Given the description of an element on the screen output the (x, y) to click on. 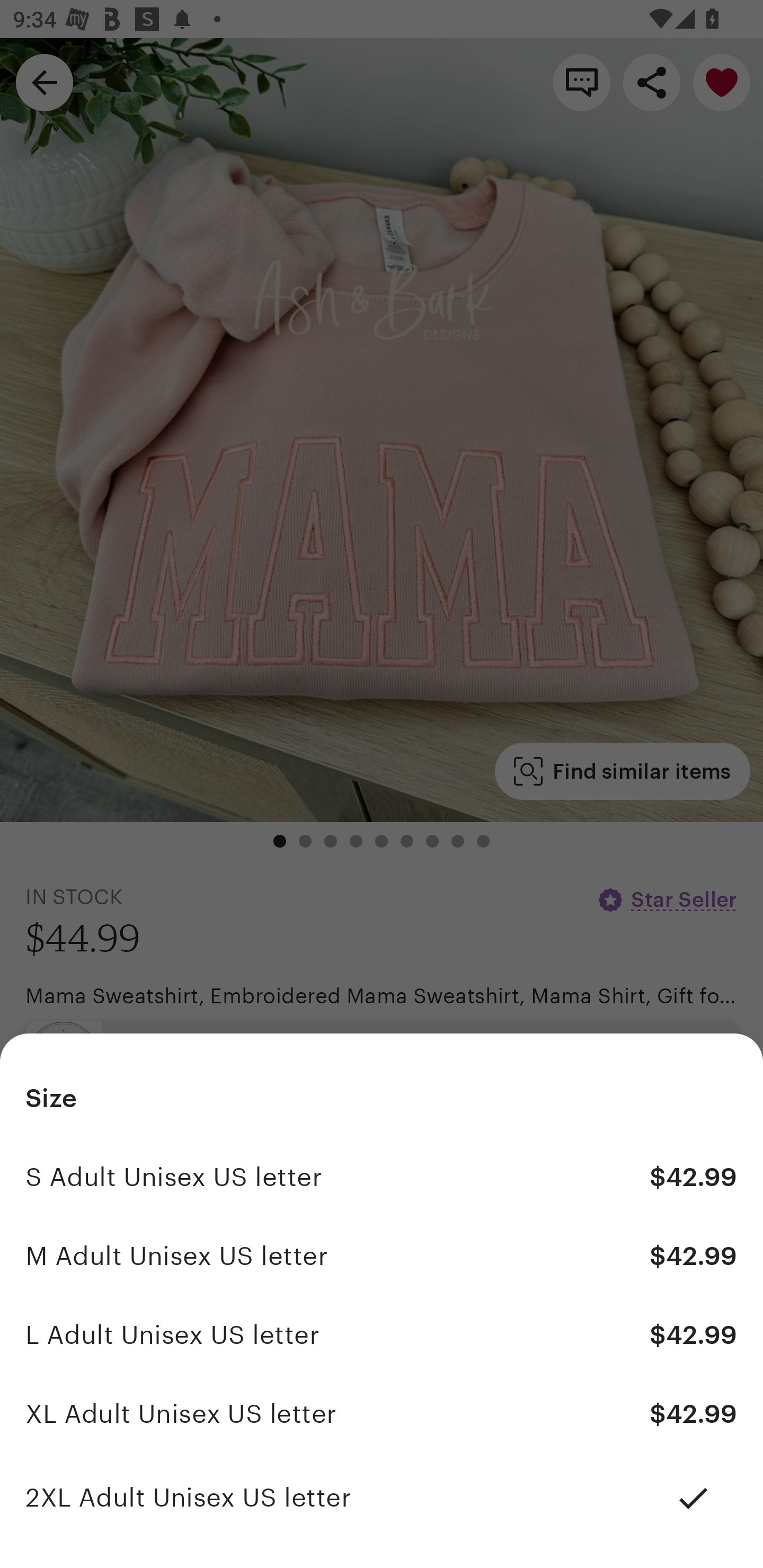
S Adult Unisex US letter $42.99 (381, 1177)
M Adult Unisex US letter $42.99 (381, 1255)
L Adult Unisex US letter $42.99 (381, 1335)
XL Adult Unisex US letter $42.99 (381, 1414)
2XL Adult Unisex US letter Selected (381, 1497)
